Given the description of an element on the screen output the (x, y) to click on. 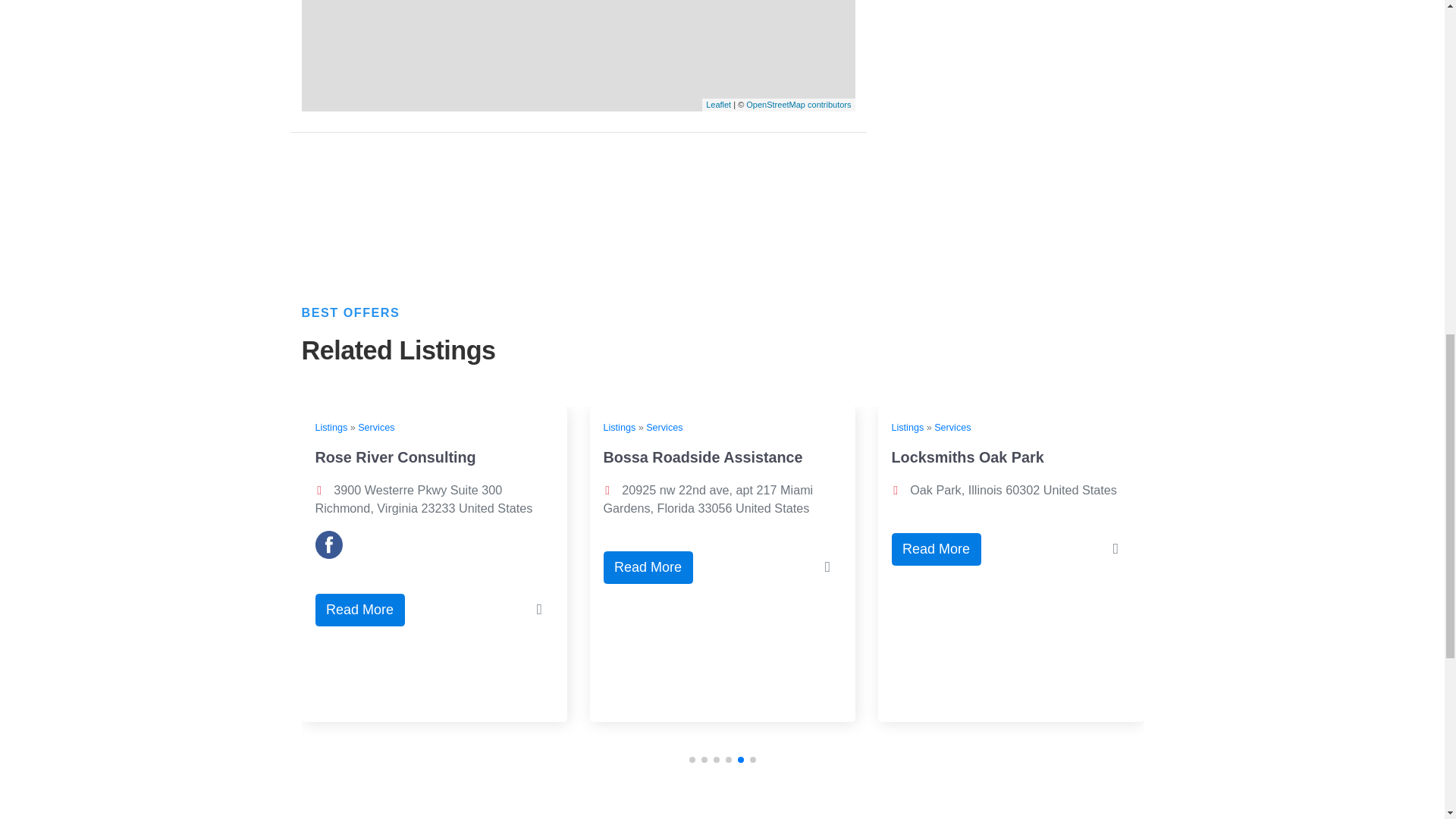
A JS library for interactive maps (718, 103)
Leaflet (718, 103)
OpenStreetMap contributors (797, 103)
